Given the description of an element on the screen output the (x, y) to click on. 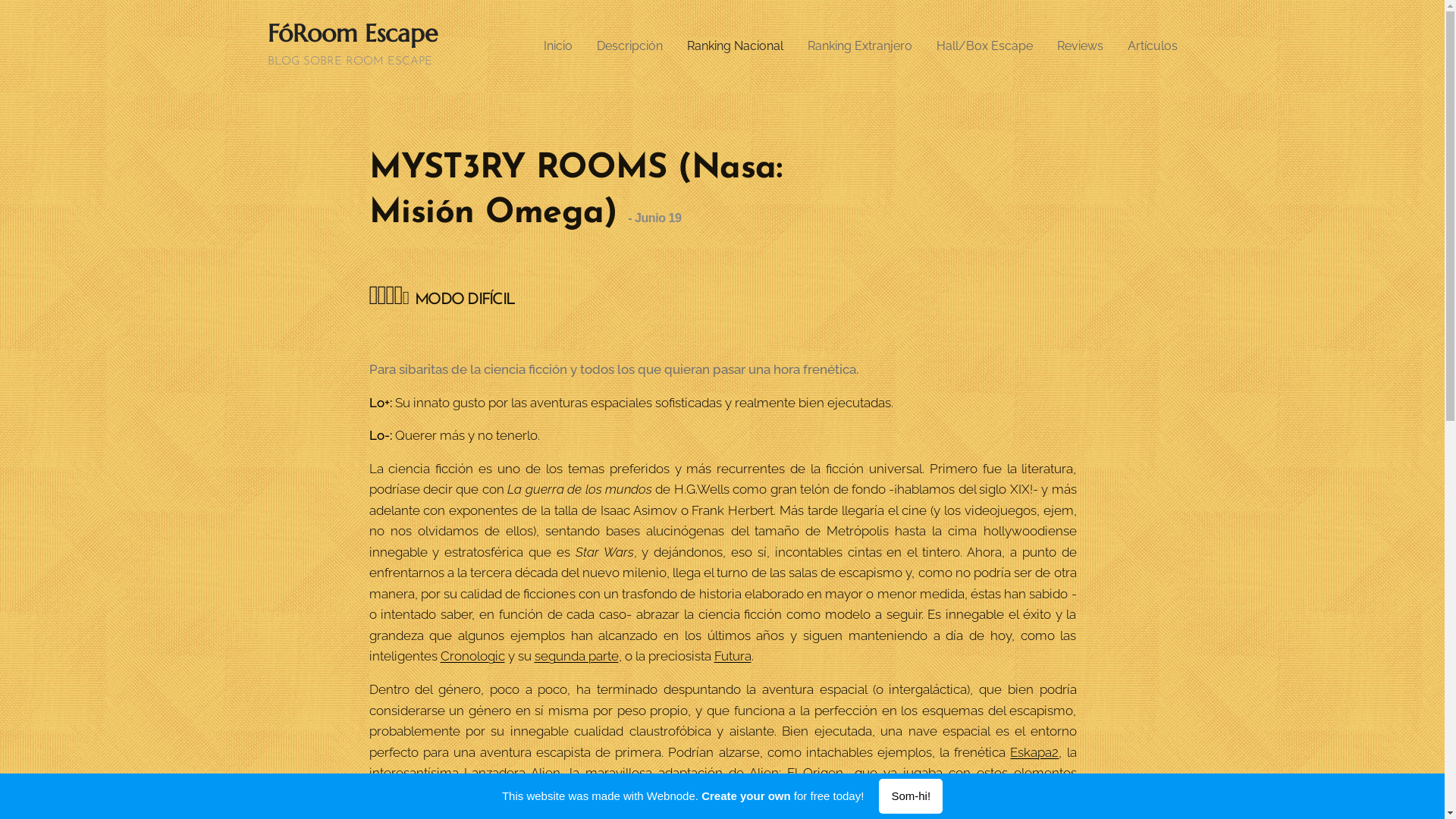
Reviews Element type: text (1079, 46)
Futura Element type: text (731, 655)
Dino Element type: text (721, 793)
Ranking Extranjero Element type: text (858, 46)
Ranking Nacional Element type: text (734, 46)
Eskapa2 Element type: text (1034, 751)
Inicio Element type: text (561, 46)
Hall/Box Escape Element type: text (983, 46)
Alien: El Origen Element type: text (796, 772)
Rising Element type: text (756, 793)
Cronologic Element type: text (471, 655)
Lanzadera Alien Element type: text (512, 772)
segunda parte Element type: text (575, 655)
